Given the description of an element on the screen output the (x, y) to click on. 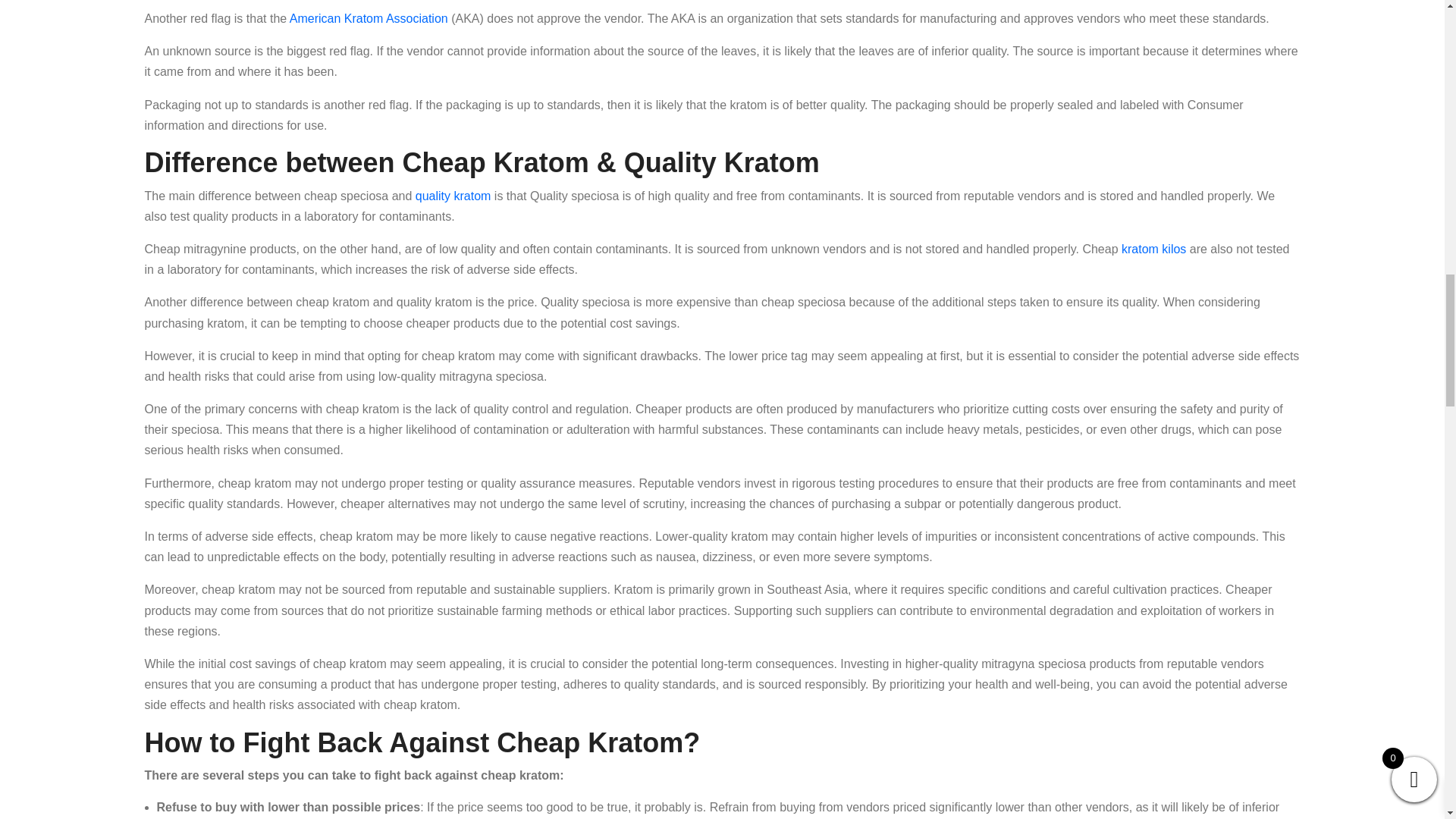
quality kratom (453, 195)
American Kratom Association (368, 18)
kratom kilos (1153, 248)
